Given the description of an element on the screen output the (x, y) to click on. 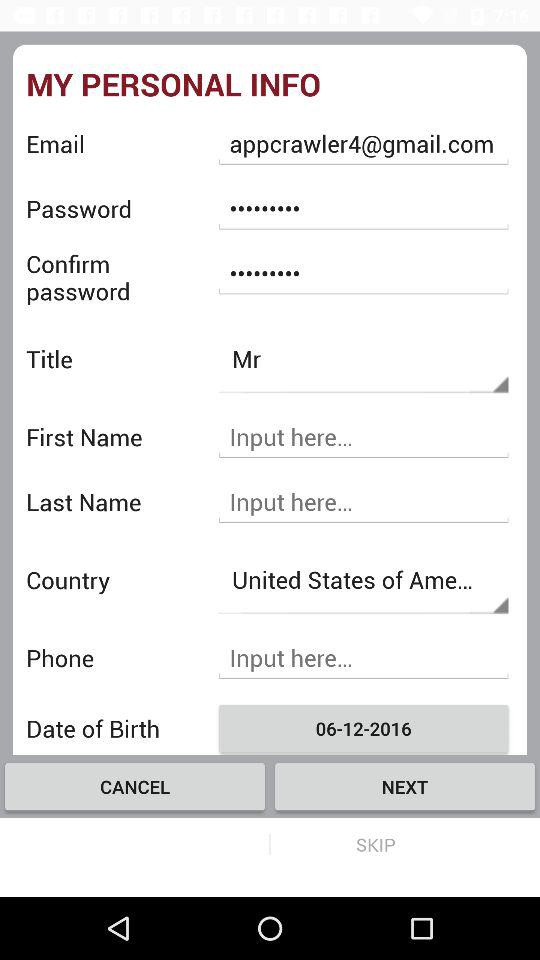
input phone number (363, 658)
